Given the description of an element on the screen output the (x, y) to click on. 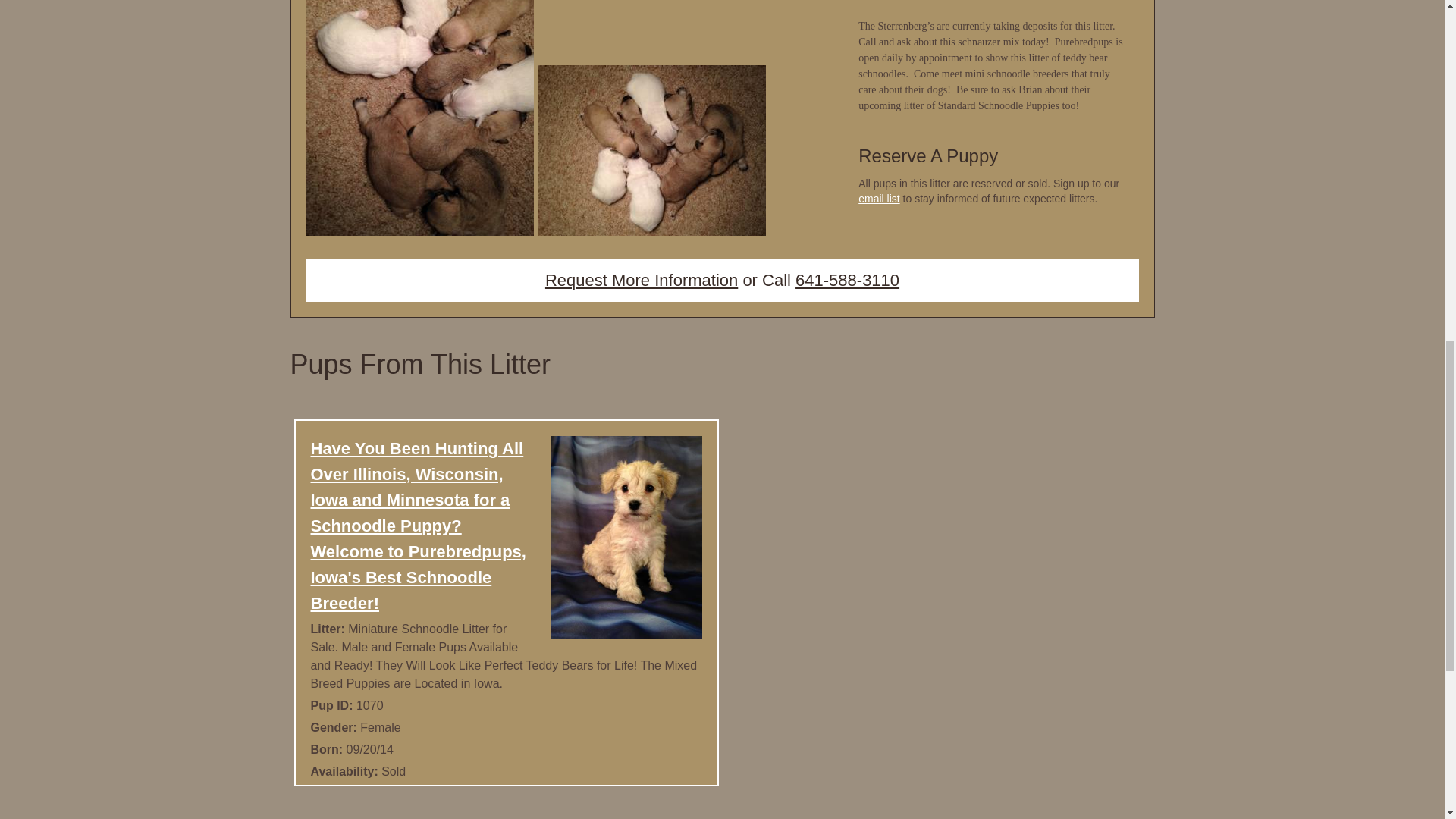
641-588-3110 (846, 280)
Request More Information (641, 280)
email list (879, 198)
